Given the description of an element on the screen output the (x, y) to click on. 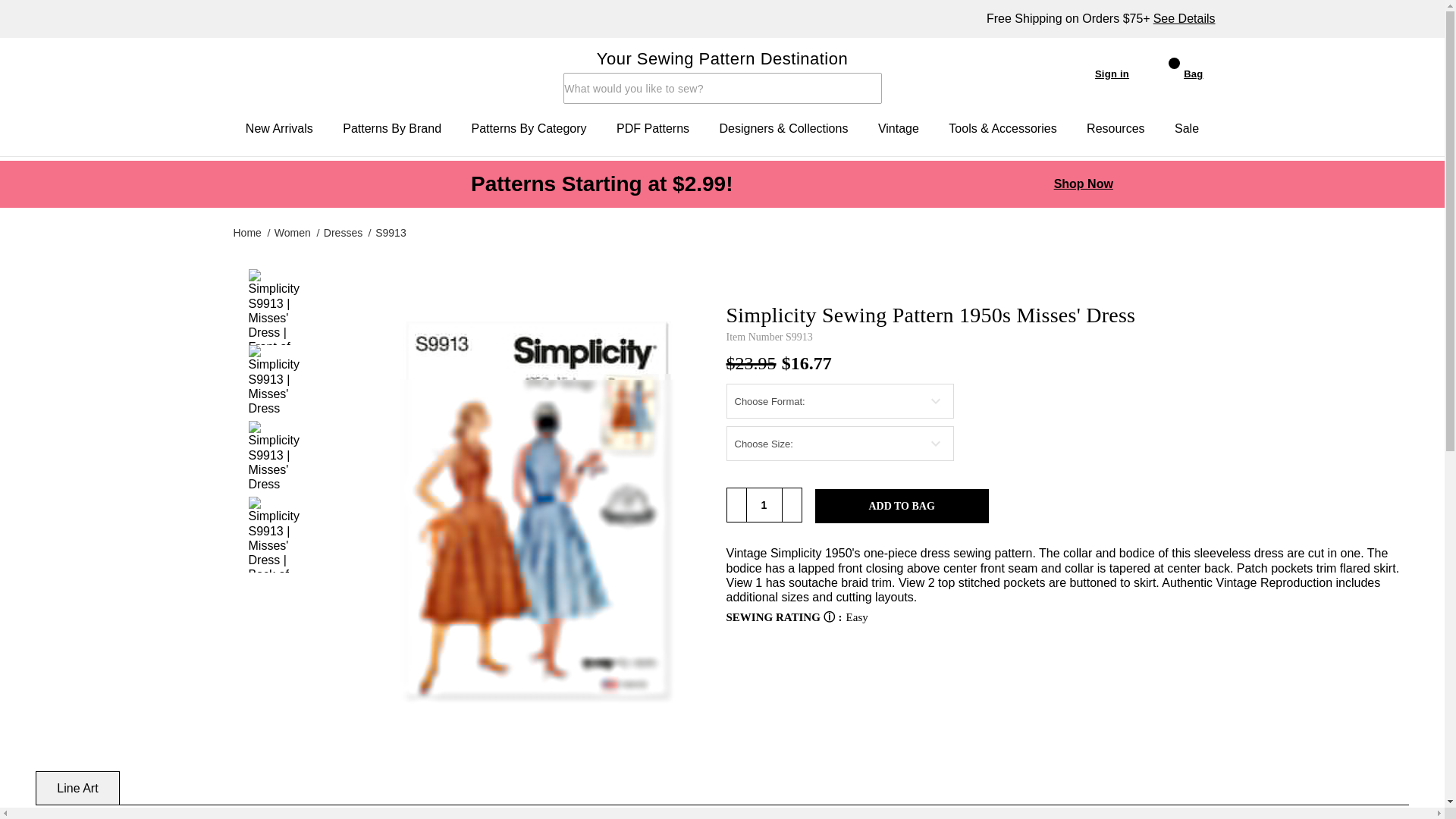
Patterns By Brand (391, 129)
Toggle Mobile Search (575, 89)
New Arrivals (279, 129)
See Details (1184, 18)
Simplicity (313, 73)
1 (764, 504)
Bag (1176, 73)
Sign in (1095, 73)
Search (573, 92)
Add to Bag (901, 505)
